Given the description of an element on the screen output the (x, y) to click on. 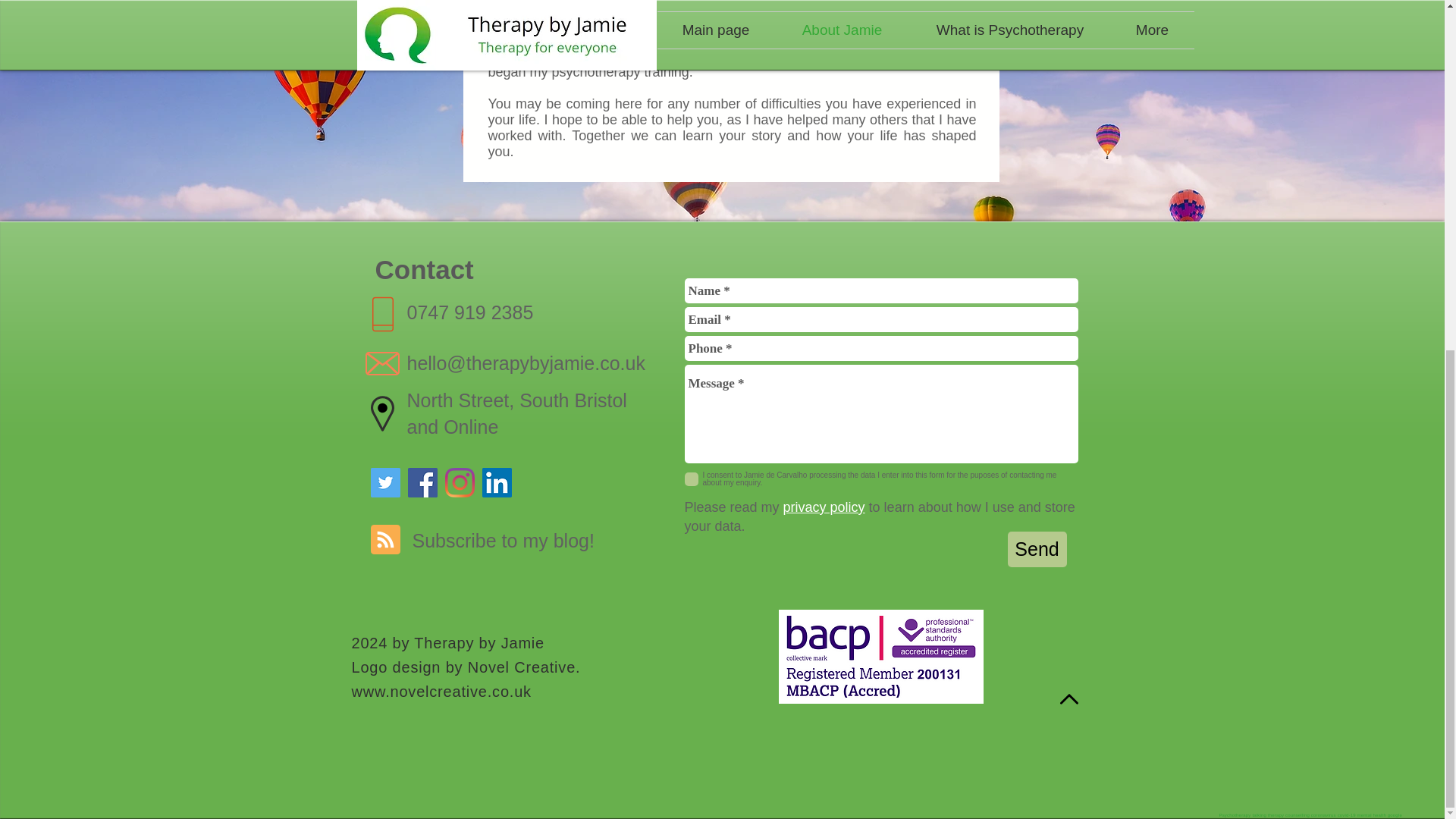
privacy policy (823, 507)
www.novelcreative.co.uk (441, 691)
Send (1036, 549)
